Given the description of an element on the screen output the (x, y) to click on. 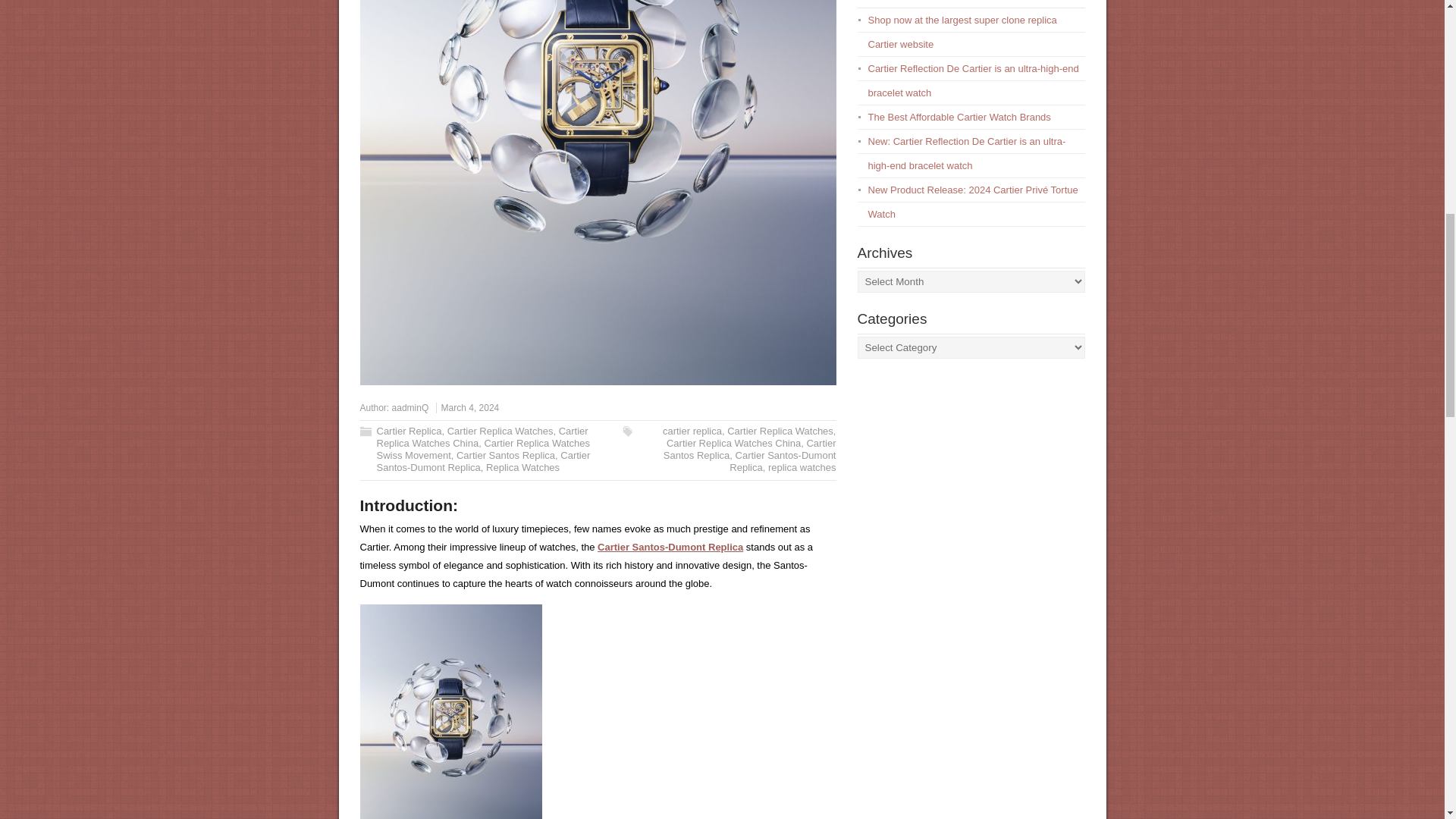
Cartier Santos Replica (749, 449)
Cartier Replica Watches (499, 430)
Cartier Replica (408, 430)
Cartier Replica Watches Swiss Movement (482, 449)
Replica Watches (522, 467)
Cartier Santos-Dumont Replica (782, 461)
cartier replica (692, 430)
Cartier Santos-Dumont Replica (482, 461)
Cartier Santos-Dumont Replica (669, 546)
replica watches (801, 467)
Posts by aadminQ (410, 407)
aadminQ (410, 407)
Cartier Replica Watches China (481, 436)
Cartier Replica Watches (779, 430)
Cartier Santos Replica (505, 455)
